Given the description of an element on the screen output the (x, y) to click on. 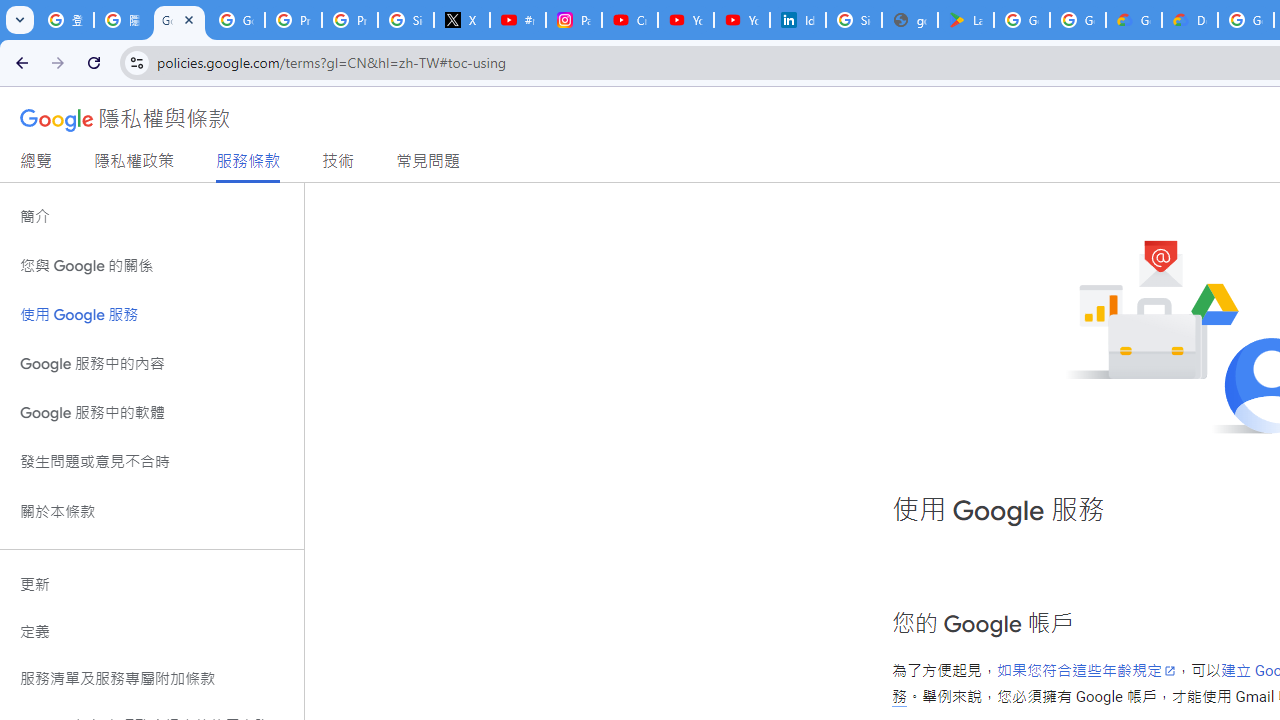
Government | Google Cloud (1133, 20)
